Given the description of an element on the screen output the (x, y) to click on. 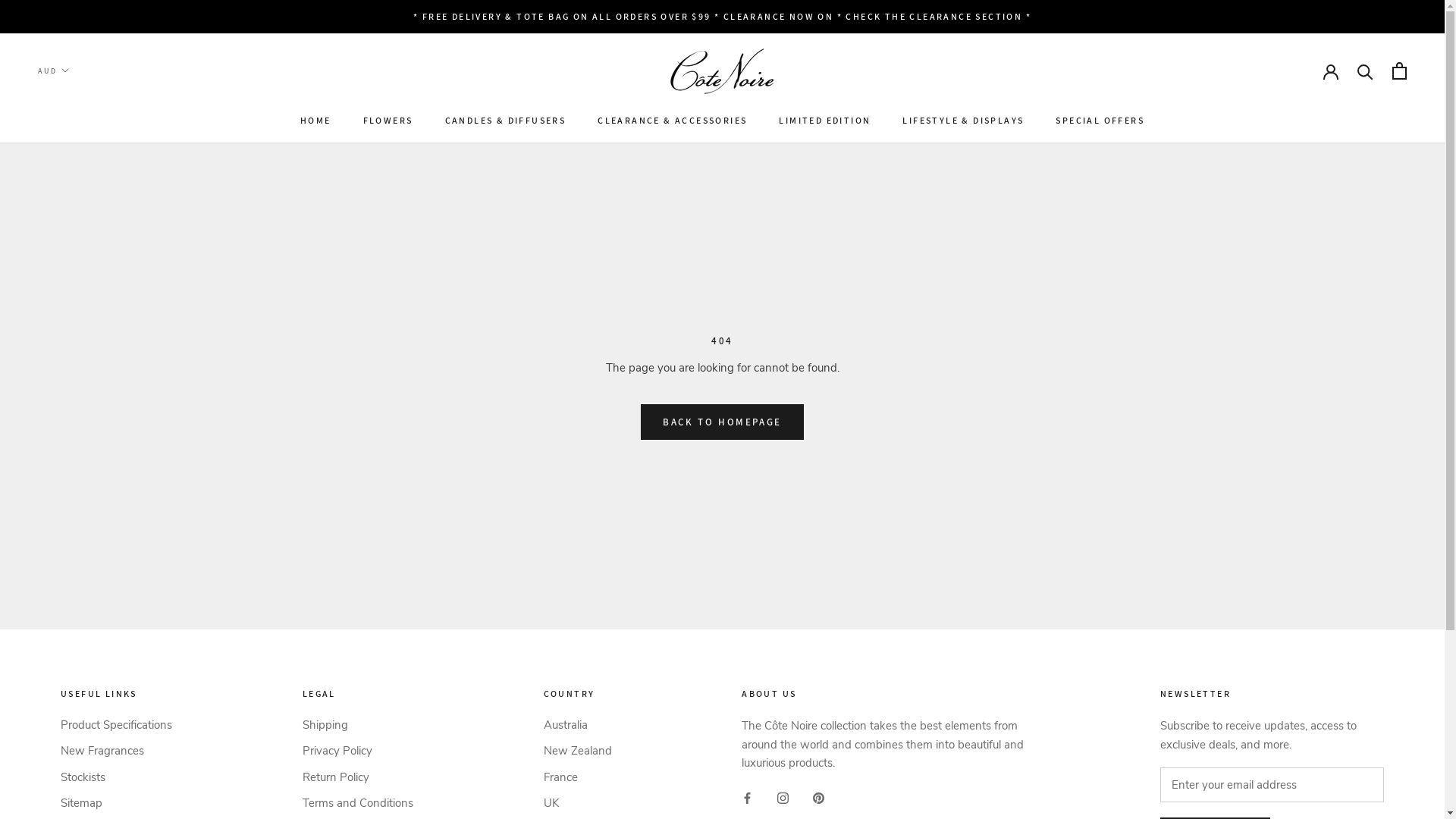
Australia Element type: text (576, 725)
LIMITED EDITION Element type: text (824, 119)
UK Element type: text (576, 803)
FLOWERS Element type: text (388, 119)
Terms and Conditions Element type: text (357, 803)
Shipping Element type: text (357, 725)
BACK TO HOMEPAGE Element type: text (721, 421)
Privacy Policy Element type: text (357, 750)
Stockists Element type: text (116, 777)
New Zealand Element type: text (576, 750)
Return Policy Element type: text (357, 777)
Sitemap Element type: text (116, 803)
Product Specifications Element type: text (116, 725)
LIFESTYLE & DISPLAYS
LIFESTYLE & DISPLAYS Element type: text (962, 119)
France Element type: text (576, 777)
SPECIAL OFFERS
SPECIAL OFFERS Element type: text (1099, 119)
New Fragrances Element type: text (116, 750)
HOME
HOME Element type: text (315, 119)
CANDLES & DIFFUSERS Element type: text (504, 119)
CLEARANCE & ACCESSORIES Element type: text (671, 119)
